Given the description of an element on the screen output the (x, y) to click on. 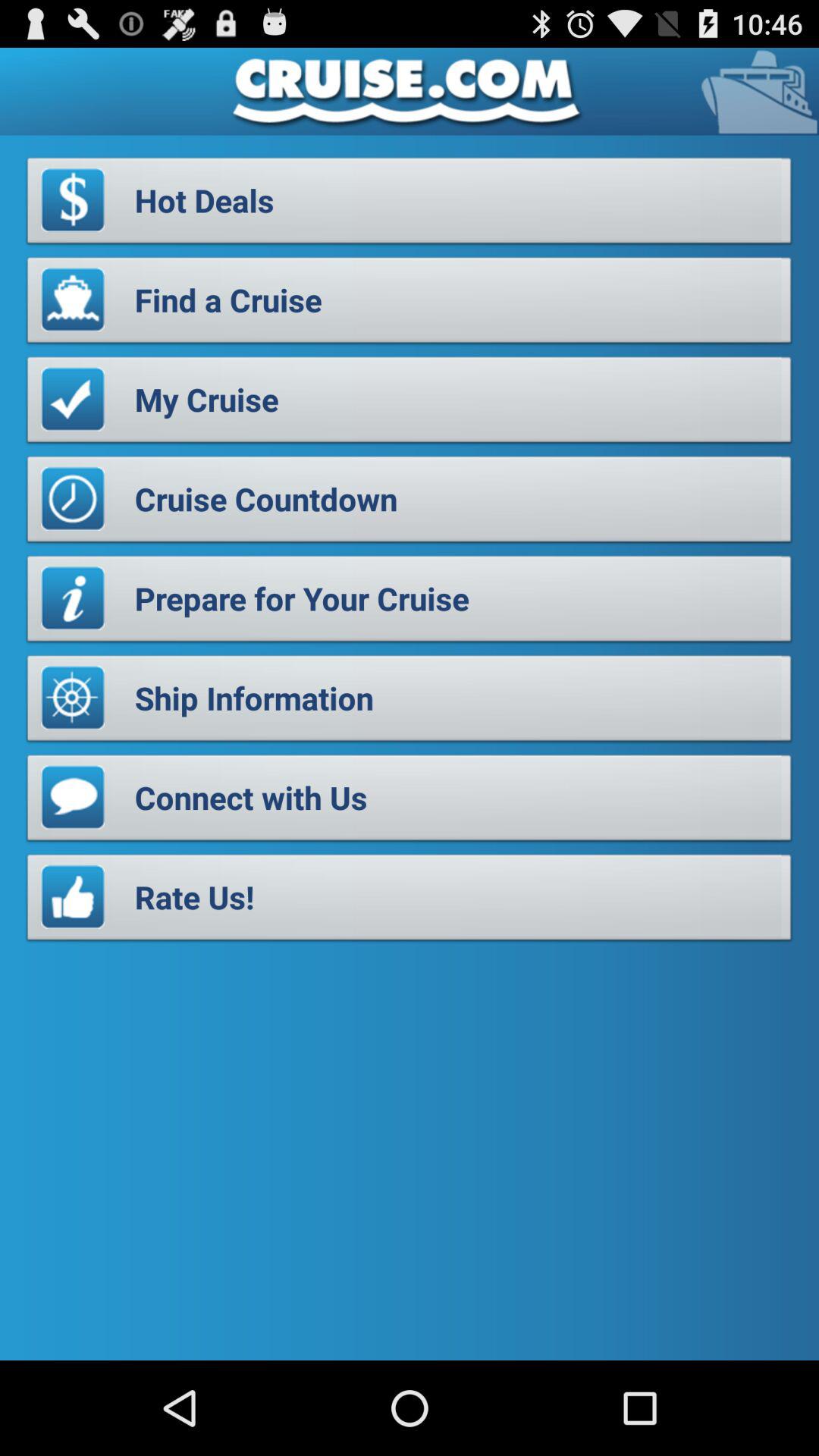
flip to the ship information (409, 702)
